Given the description of an element on the screen output the (x, y) to click on. 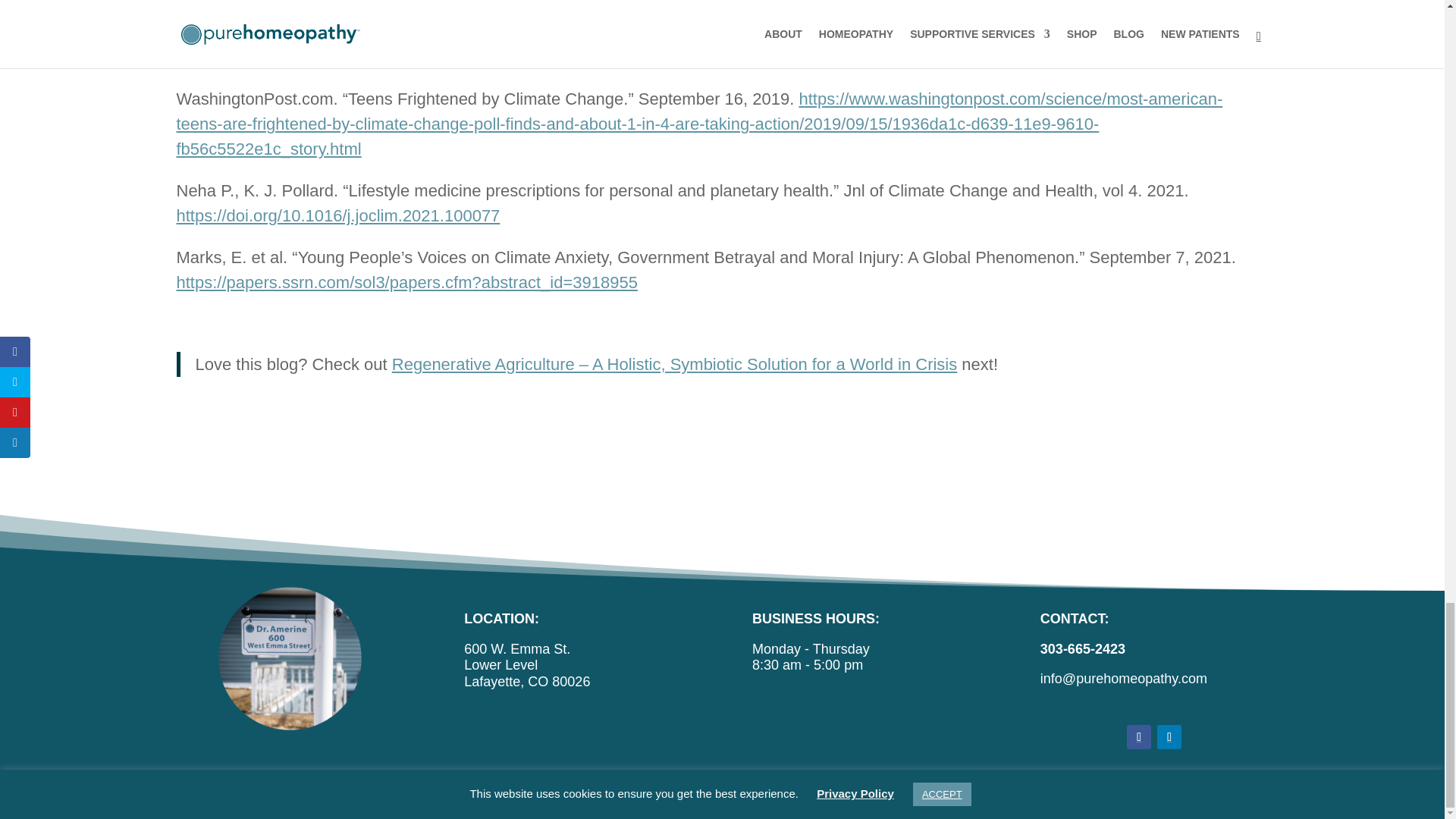
Privacy Policy (550, 795)
Facebook (1138, 736)
LinkedIn (1168, 736)
Disclaimer (602, 795)
